Given the description of an element on the screen output the (x, y) to click on. 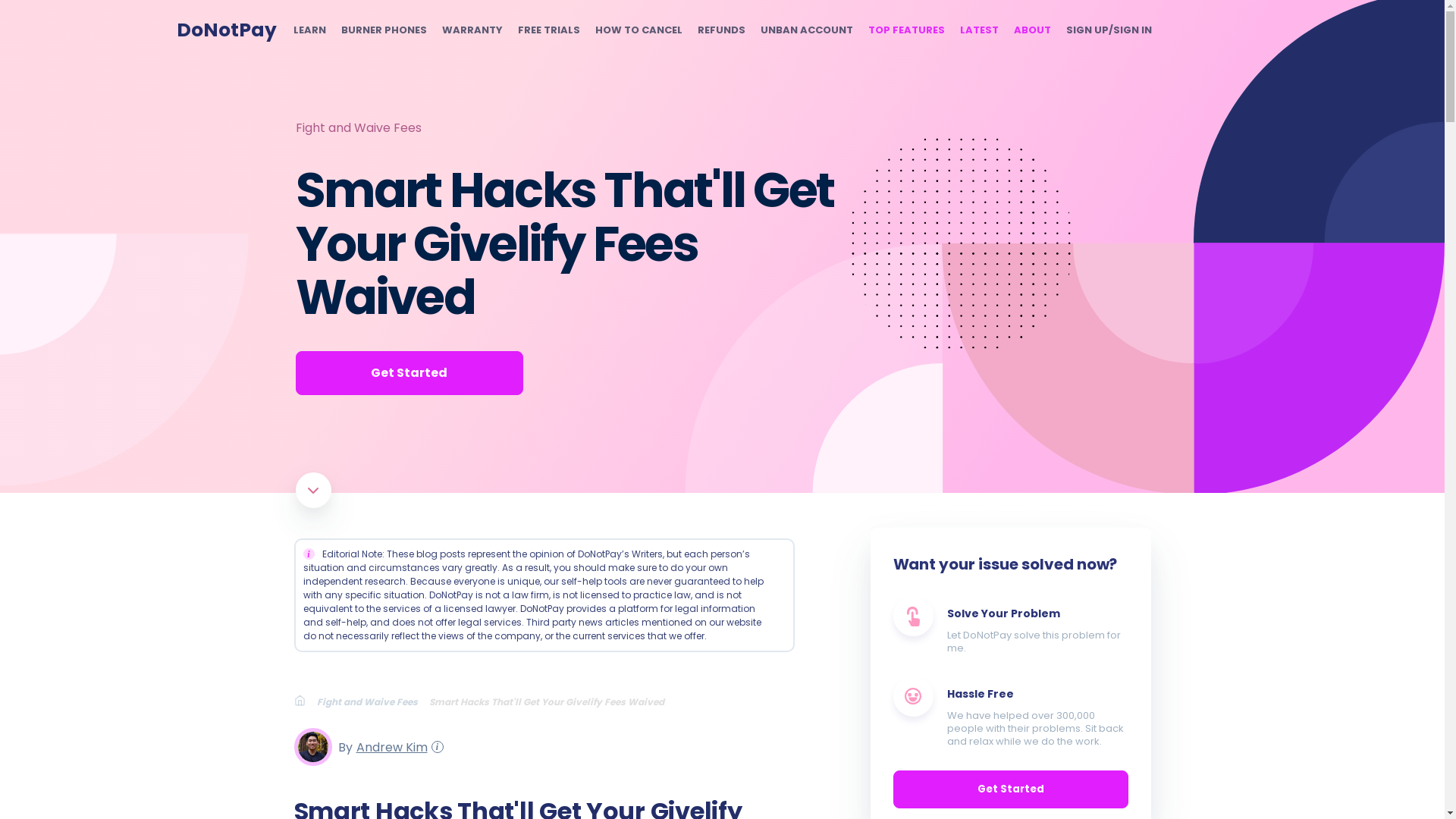
WARRANTY (471, 29)
BURNER PHONES (383, 29)
Fight and Waive Fees (373, 700)
REFUNDS (721, 29)
HOW TO CANCEL (637, 29)
UNBAN ACCOUNT (805, 29)
TOP FEATURES (905, 29)
Andrew Kim (389, 746)
Get Started (408, 372)
LATEST (978, 29)
